Given the description of an element on the screen output the (x, y) to click on. 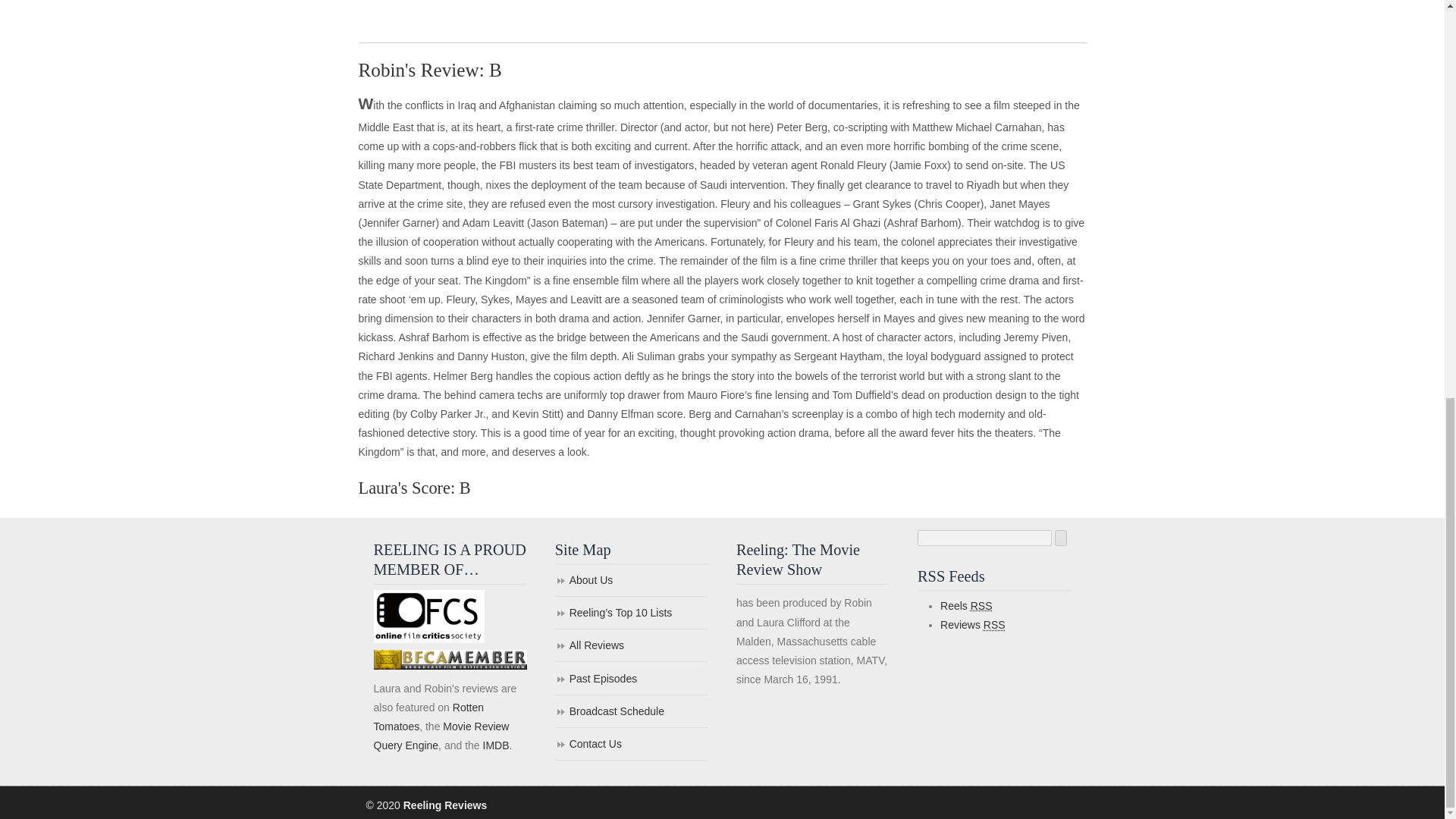
Broadcast Schedule (630, 712)
The latest Reviews in RSS (973, 624)
The latest Episodes in RSS (965, 605)
Movie Review Query Engine (440, 735)
IMDB (494, 745)
Contact Us (630, 744)
About Us (630, 581)
Really Simple Syndication (995, 624)
All Reviews (630, 645)
Reels RSS (965, 605)
Reviews RSS (973, 624)
Really Simple Syndication (981, 605)
Rotten Tomatoes (427, 716)
Past Episodes (630, 679)
